Given the description of an element on the screen output the (x, y) to click on. 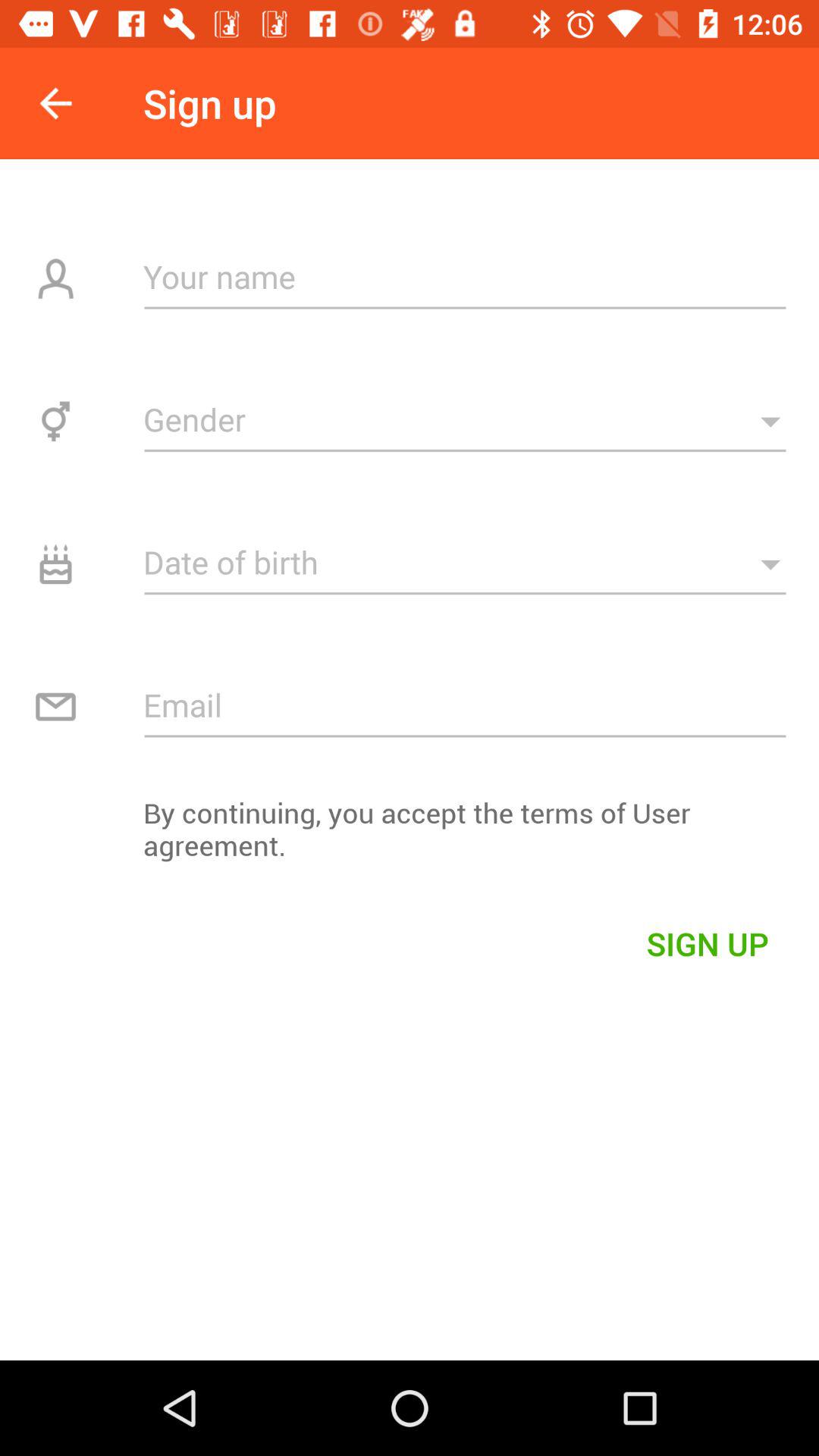
choose icon above sign up item (409, 836)
